Given the description of an element on the screen output the (x, y) to click on. 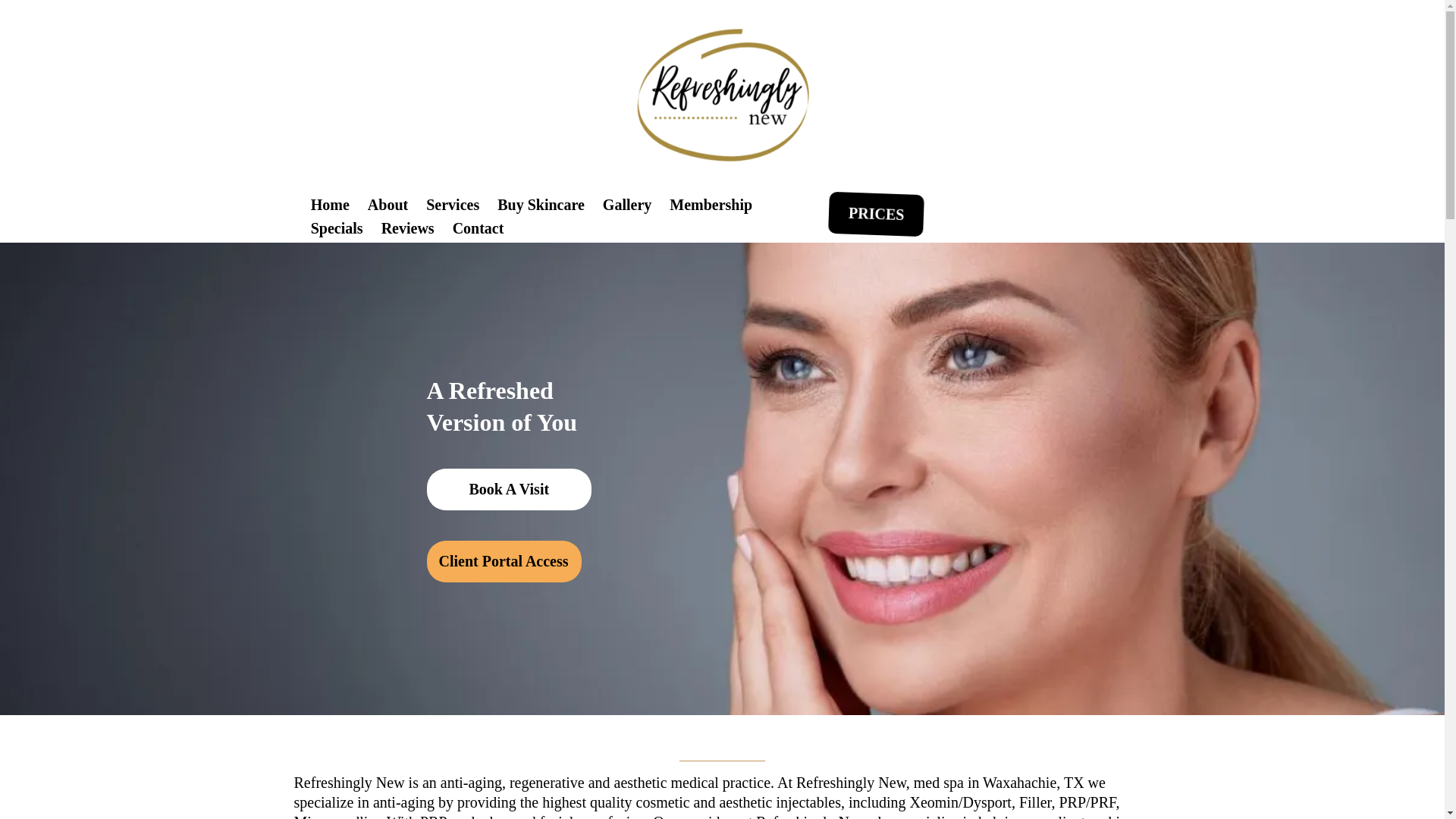
Reviews (408, 228)
Buy Skincare (540, 205)
About (387, 205)
Services (451, 205)
Membership (711, 205)
Specials (336, 228)
Contact (478, 228)
Home (329, 205)
Gallery (627, 205)
